Given the description of an element on the screen output the (x, y) to click on. 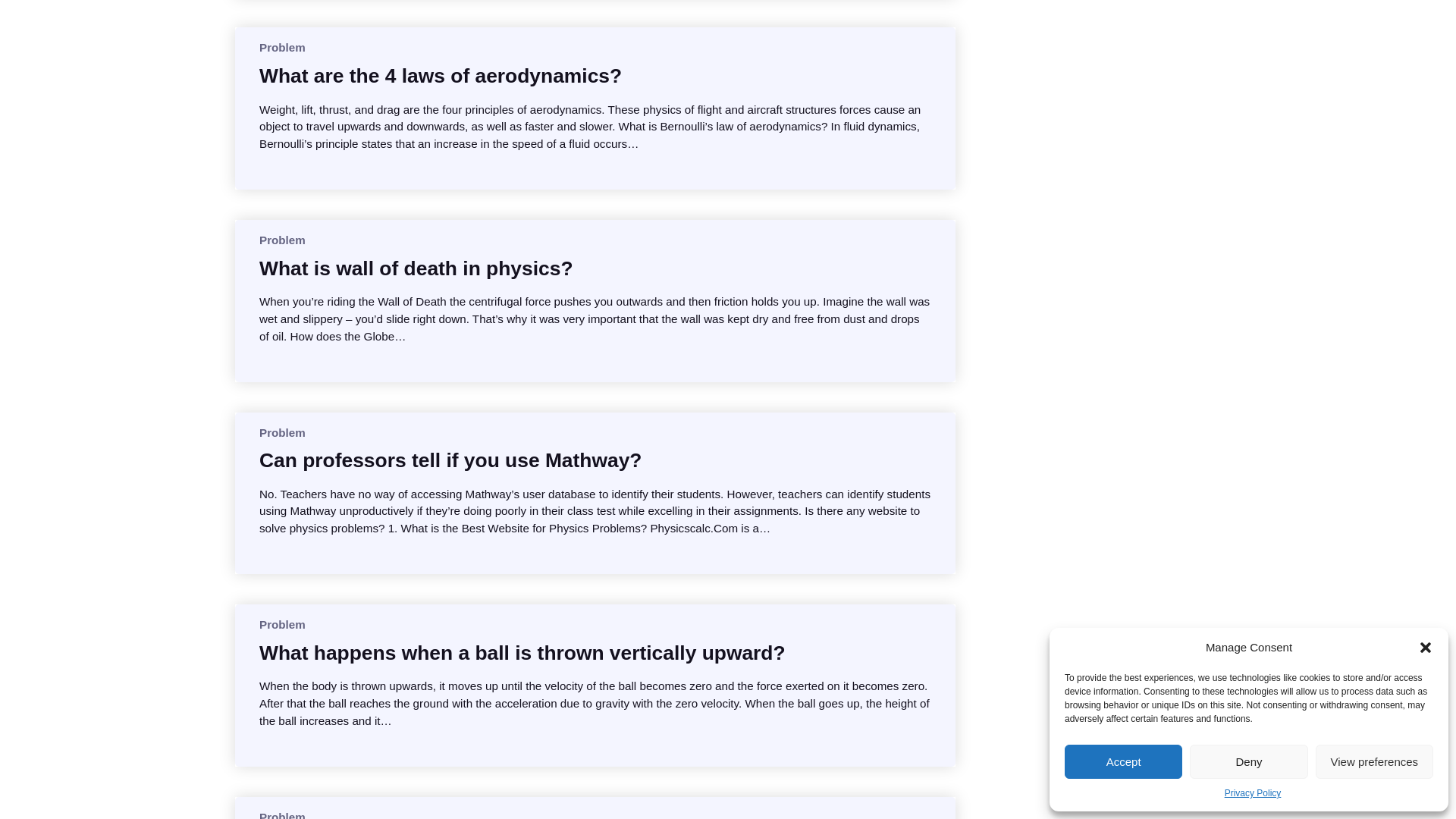
Can professors tell if you use Mathway? (450, 460)
What are the 4 laws of aerodynamics? (440, 75)
Problem (282, 47)
What is wall of death in physics? (416, 268)
What happens when a ball is thrown vertically upward? (522, 652)
Problem (282, 814)
Problem (282, 431)
Problem (282, 624)
Problem (282, 239)
